Given the description of an element on the screen output the (x, y) to click on. 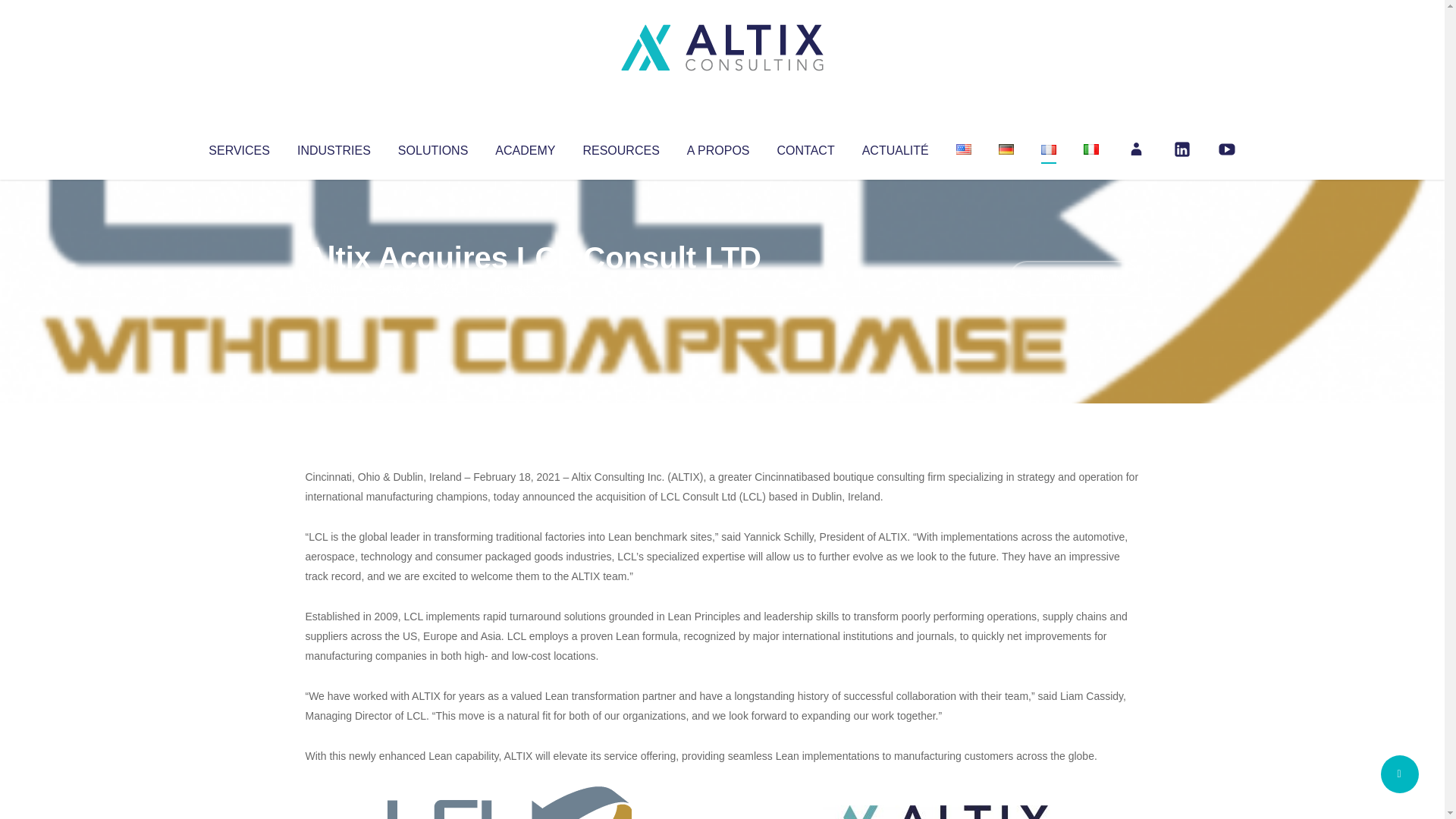
RESOURCES (620, 146)
No Comments (1073, 278)
SERVICES (238, 146)
INDUSTRIES (334, 146)
A PROPOS (718, 146)
SOLUTIONS (432, 146)
ACADEMY (524, 146)
Altix (333, 287)
Articles par Altix (333, 287)
Uncategorized (530, 287)
